Given the description of an element on the screen output the (x, y) to click on. 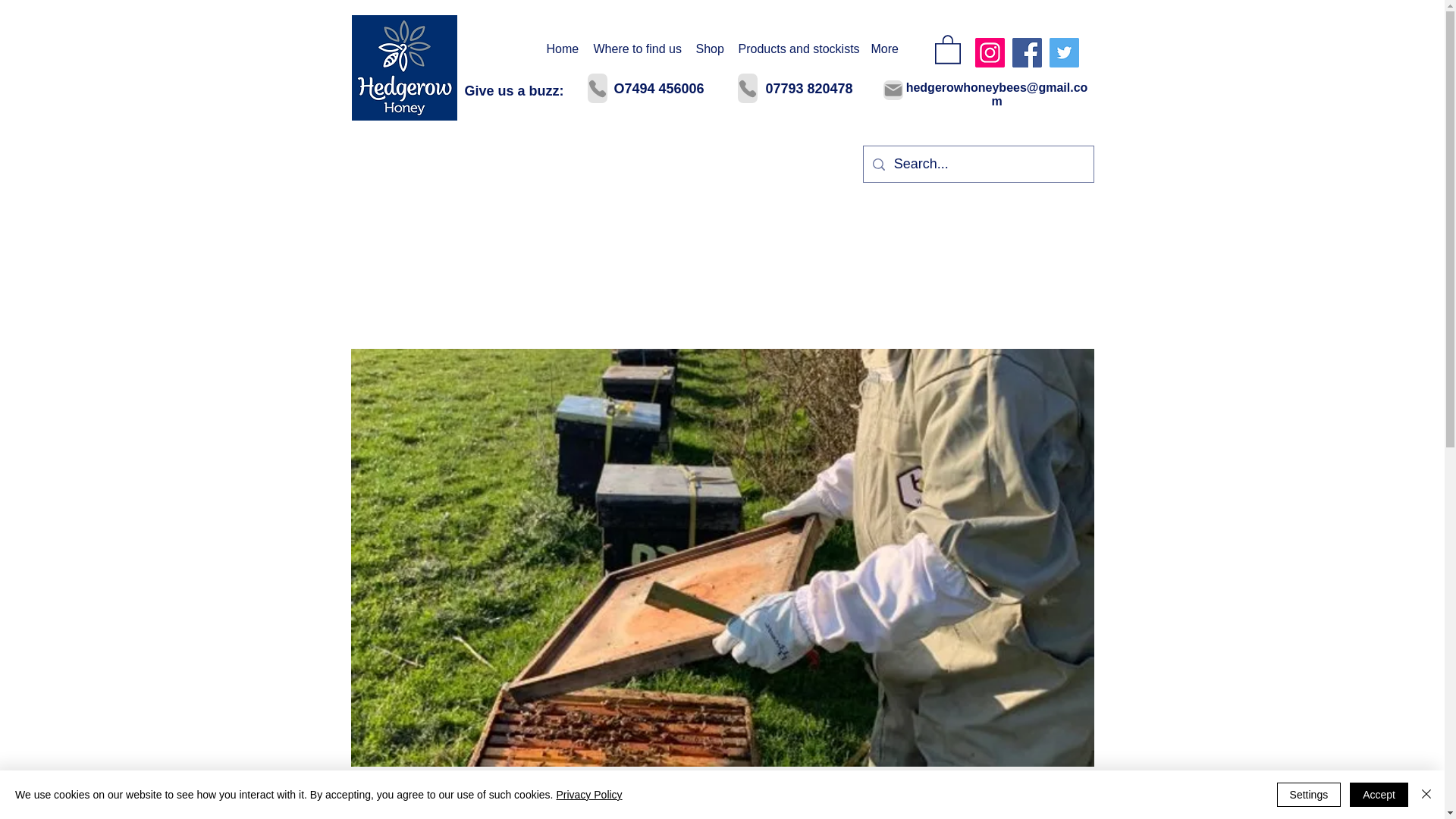
Where to find us (636, 48)
Privacy Policy (588, 794)
Settings (1308, 794)
Shop (709, 48)
O7494 456006 (659, 88)
Home (561, 48)
07793 820478 (809, 88)
Products and stockists (796, 48)
Accept (1378, 794)
